Given the description of an element on the screen output the (x, y) to click on. 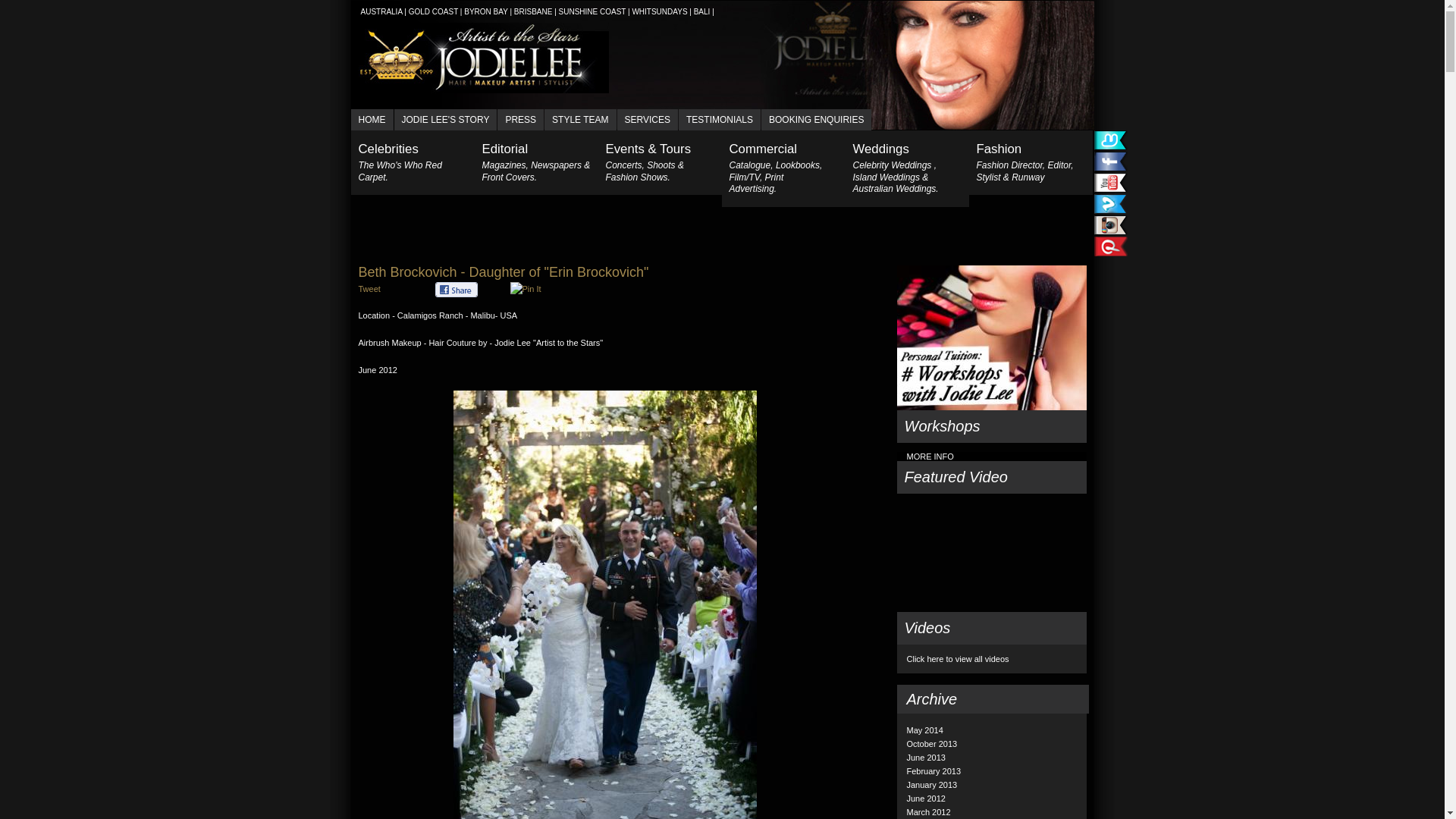
Featured Video Element type: text (990, 477)
June 2013 Element type: text (925, 757)
Fashion
Fashion Director, Editor, Stylist & Runway Element type: text (1030, 162)
HOME Element type: text (371, 119)
TESTIMONIALS Element type: text (719, 119)
May 2014 Element type: text (924, 729)
January 2013 Element type: text (931, 784)
Workshops Element type: text (990, 426)
Pin It Element type: hover (524, 288)
Events & Tours
Concerts, Shoots & Fashion Shows. Element type: text (659, 162)
YouTube video player Element type: hover (990, 553)
June 2012 Element type: text (925, 798)
Click here to view all videos Element type: text (957, 658)
JODIE LEE'S STORY Element type: text (445, 119)
February 2013 Element type: text (933, 770)
Tweet Element type: text (368, 288)
Videos Element type: text (990, 627)
Editorial
Magazines, Newspapers & Front Covers. Element type: text (536, 162)
MORE INFO Element type: text (929, 456)
SERVICES Element type: text (647, 119)
Commercial
Catalogue, Lookbooks, Film/TV, Print Advertising. Element type: text (783, 168)
PRESS Element type: text (520, 119)
BOOKING ENQUIRIES Element type: text (816, 119)
Celebrities
The Who's Who Red Carpet. Element type: text (411, 162)
October 2013 Element type: text (931, 743)
STYLE TEAM Element type: text (579, 119)
March 2012 Element type: text (928, 811)
